Given the description of an element on the screen output the (x, y) to click on. 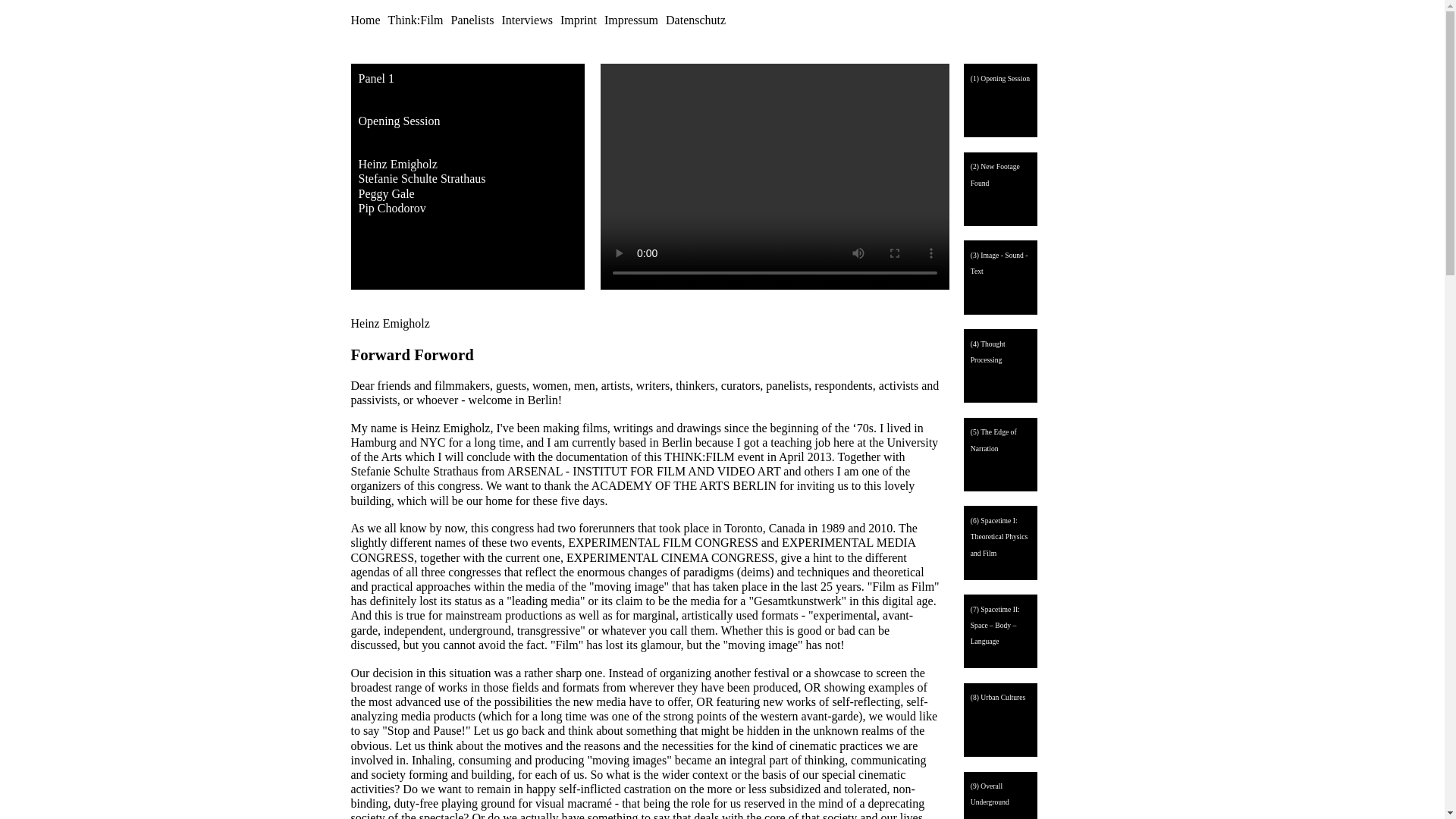
Stefanie Schulte Strathaus (421, 178)
Imprint (578, 19)
Think:Film (416, 19)
Heinz Emigholz (397, 164)
Datenschutz (695, 19)
Opening Session (398, 120)
Peggy Gale (385, 193)
Interviews (526, 19)
Home (365, 19)
Impressum (631, 19)
Panelists (473, 19)
